Given the description of an element on the screen output the (x, y) to click on. 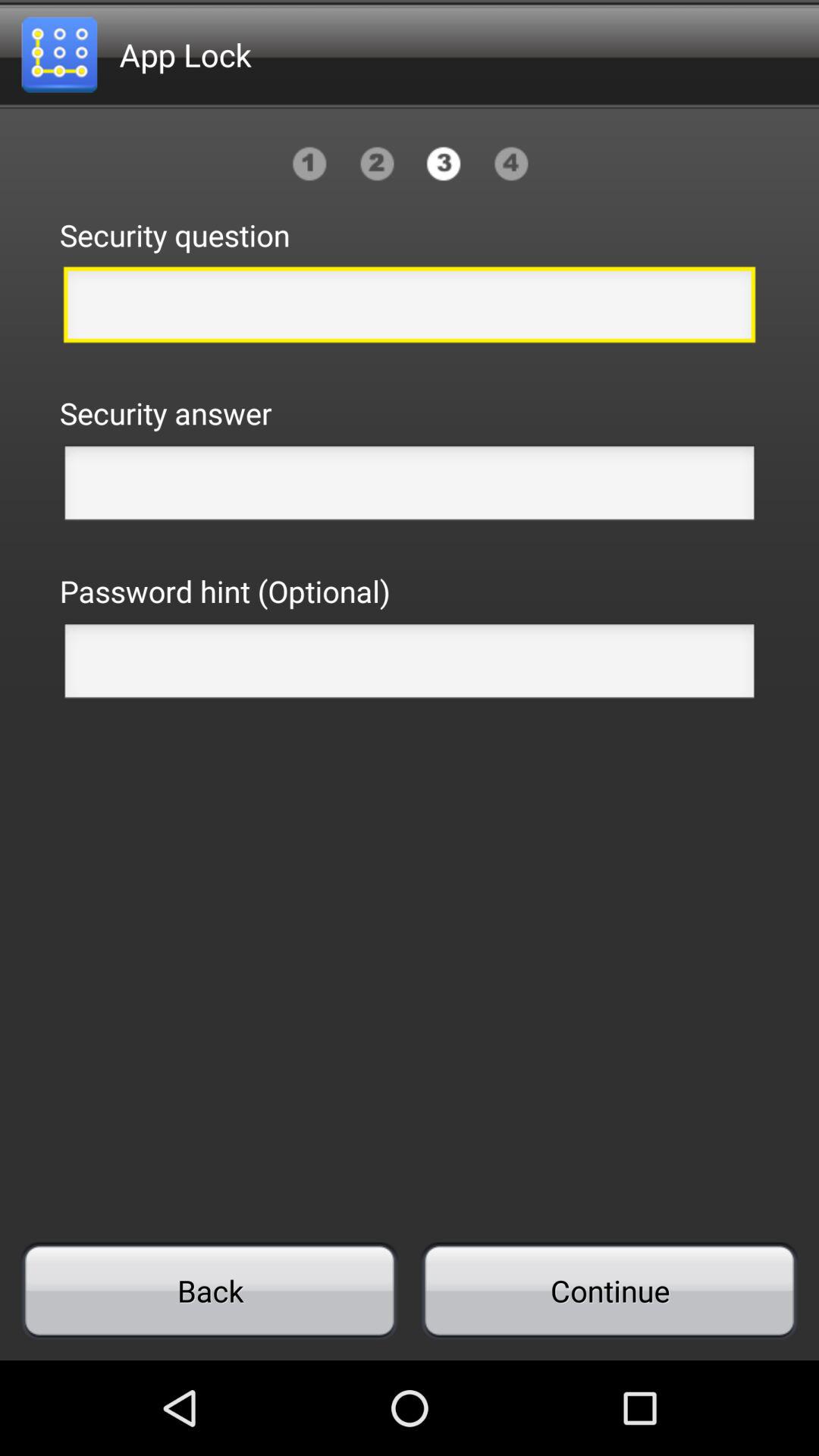
scroll until the continue item (609, 1290)
